Given the description of an element on the screen output the (x, y) to click on. 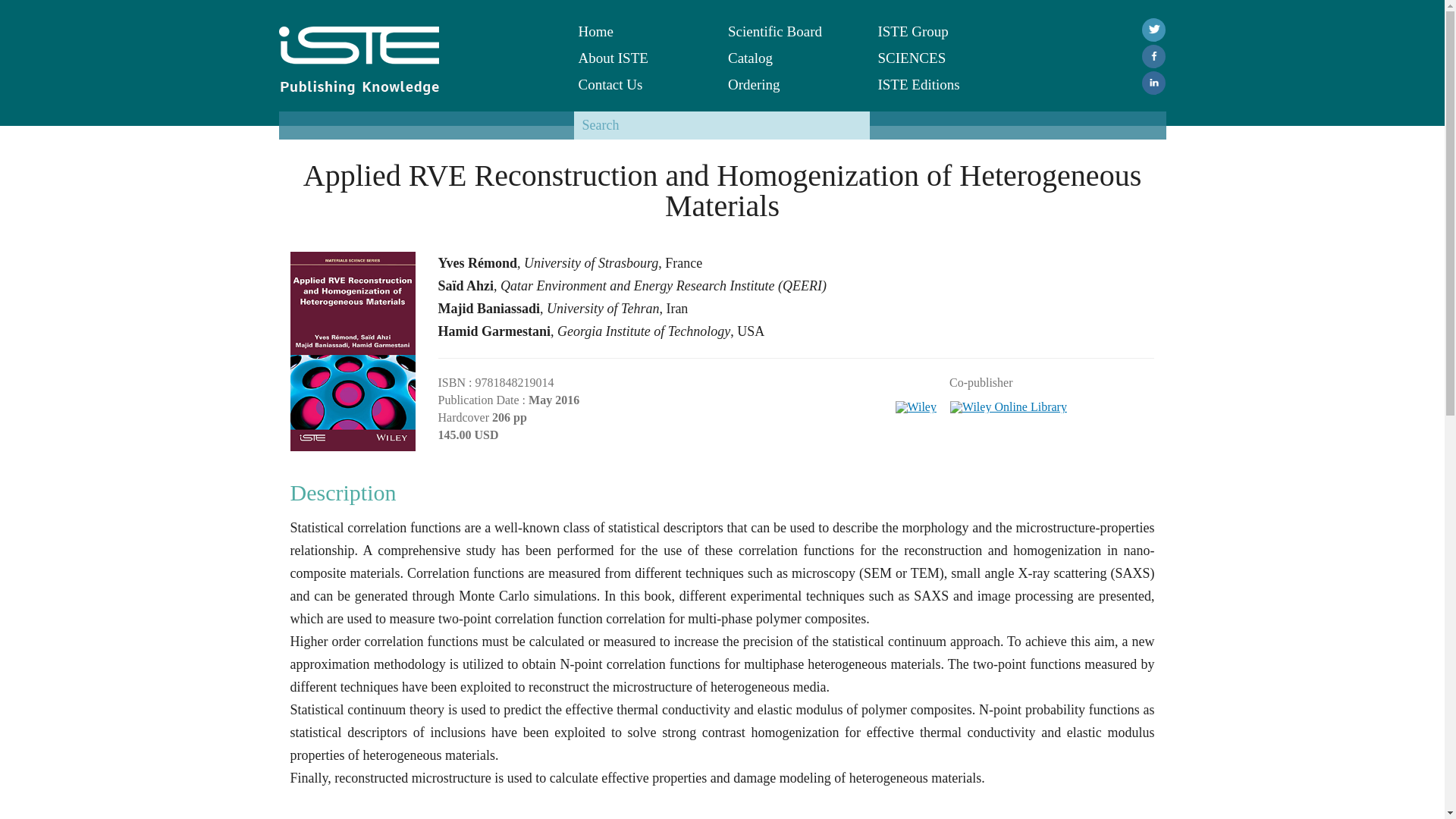
ISTE Group (940, 31)
Ordering (791, 84)
About ISTE (641, 58)
Facebook (1153, 56)
About ISTE (641, 58)
ISTE Editions (940, 84)
Wiley Online Library (1008, 402)
Contact Us (641, 84)
Home (641, 31)
ISTE Editions (940, 84)
